Given the description of an element on the screen output the (x, y) to click on. 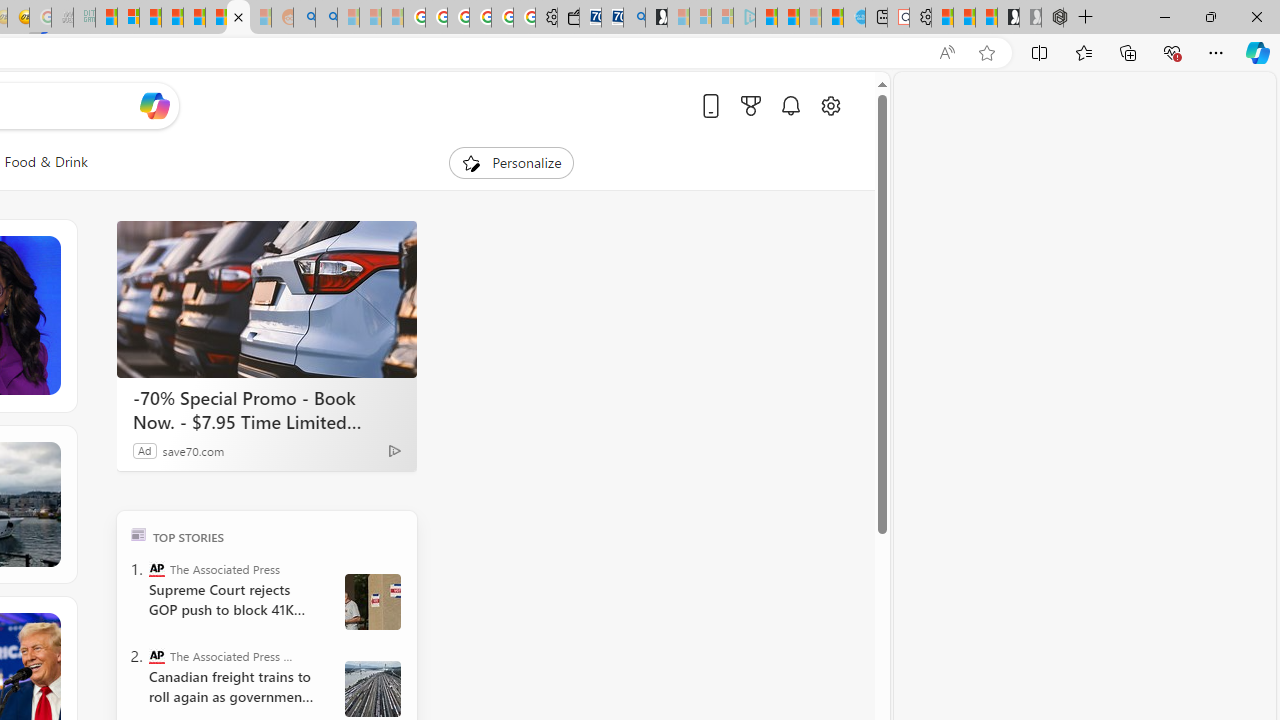
Kinda Frugal - MSN (216, 17)
